Given the description of an element on the screen output the (x, y) to click on. 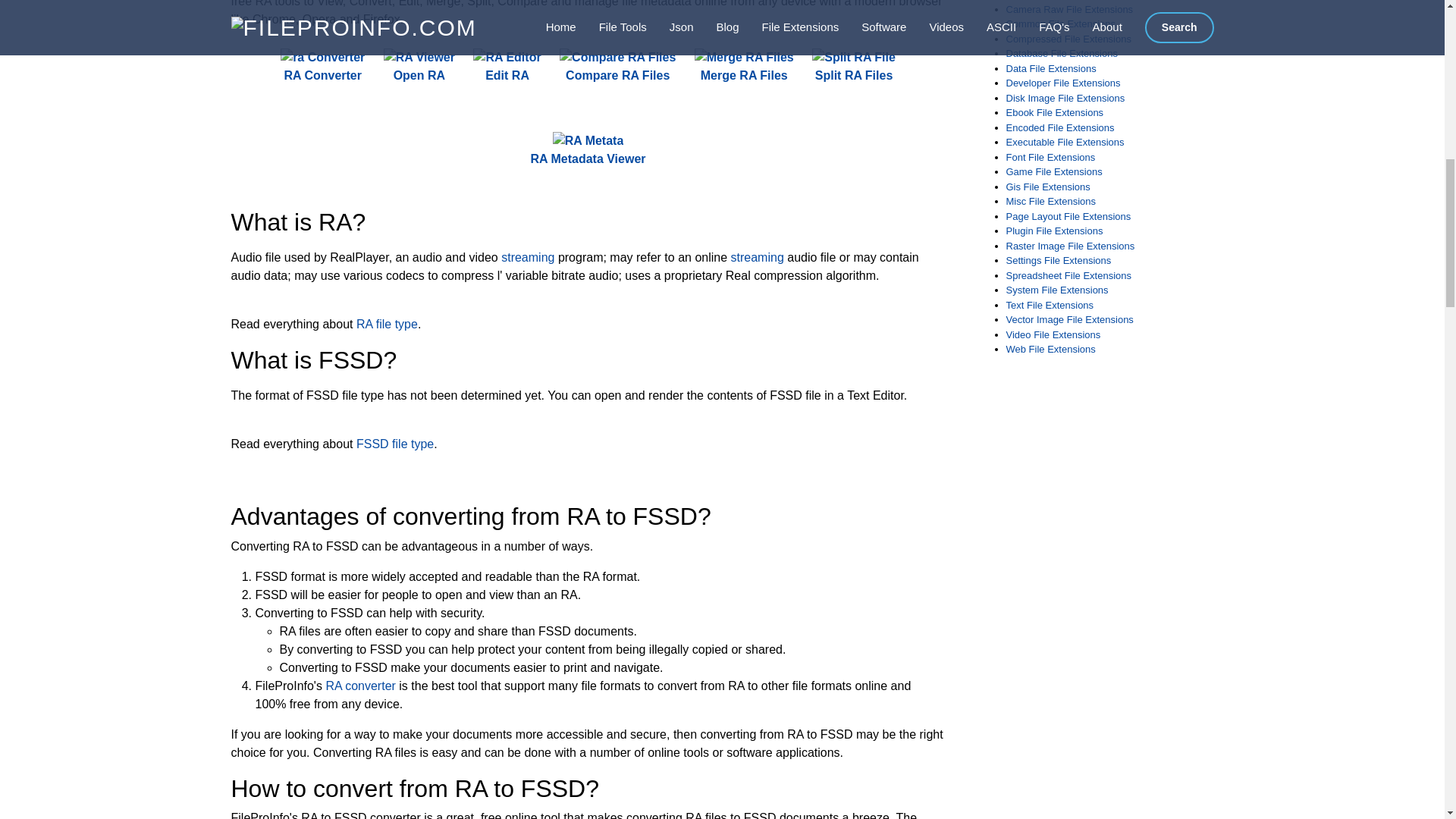
RA Converter. (323, 66)
FSSD file type (394, 443)
RA Converter (323, 66)
streaming (757, 256)
RA converter (359, 685)
ra Converter online free (323, 57)
Compare RA Files (617, 66)
RA Viewer, open RA file online and free. (419, 66)
Merge RA Files (743, 66)
RA file type (386, 323)
